Given the description of an element on the screen output the (x, y) to click on. 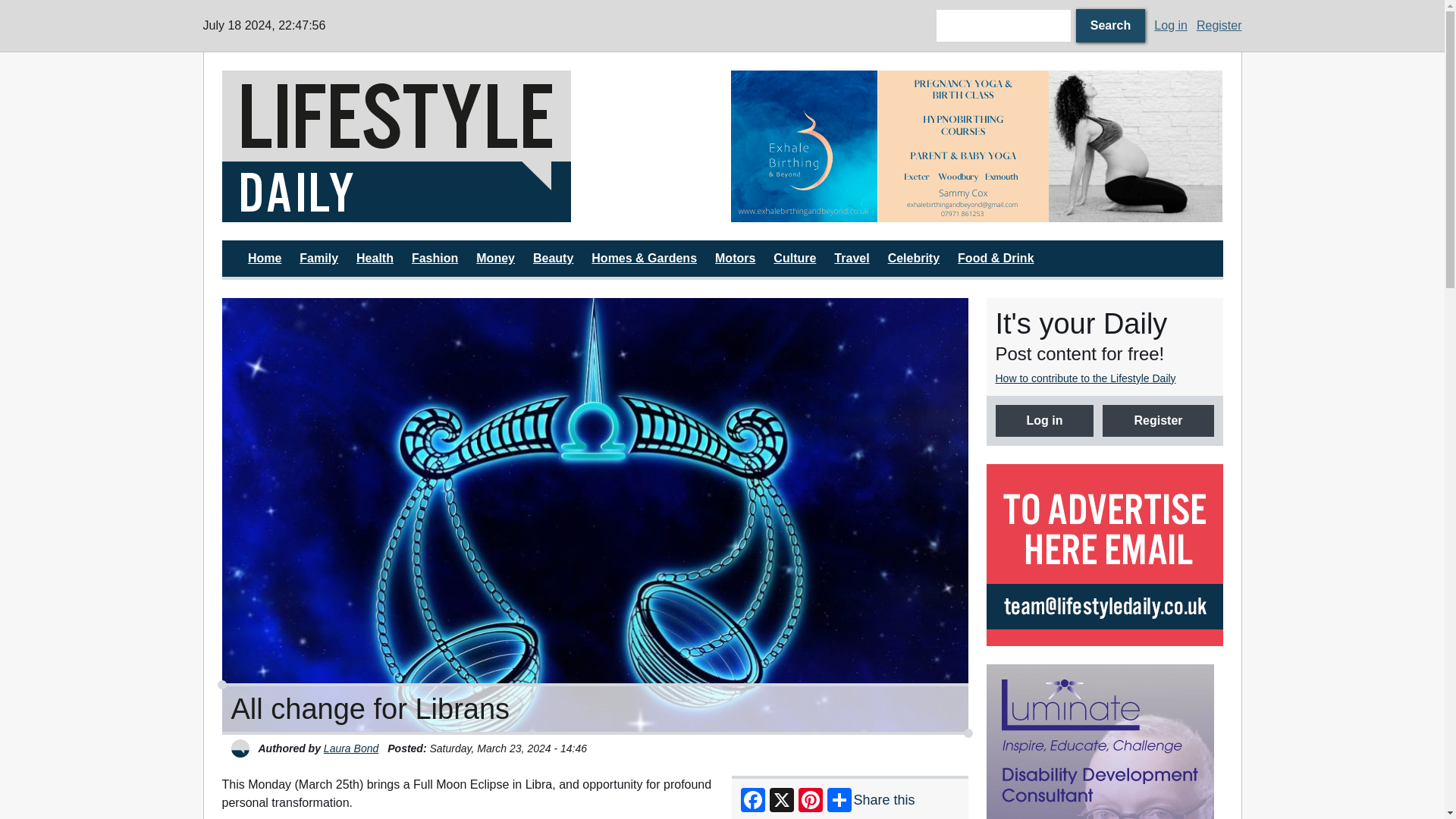
Search (1110, 25)
Laura Bond (350, 747)
Travel (851, 257)
X (781, 799)
Log in (1171, 24)
Health (374, 257)
Home (467, 145)
Money (495, 257)
Facebook (753, 799)
Culture (794, 257)
Family (318, 257)
Fashion (435, 257)
Enter the terms you wish to search for. (1003, 25)
Motors (734, 257)
